Given the description of an element on the screen output the (x, y) to click on. 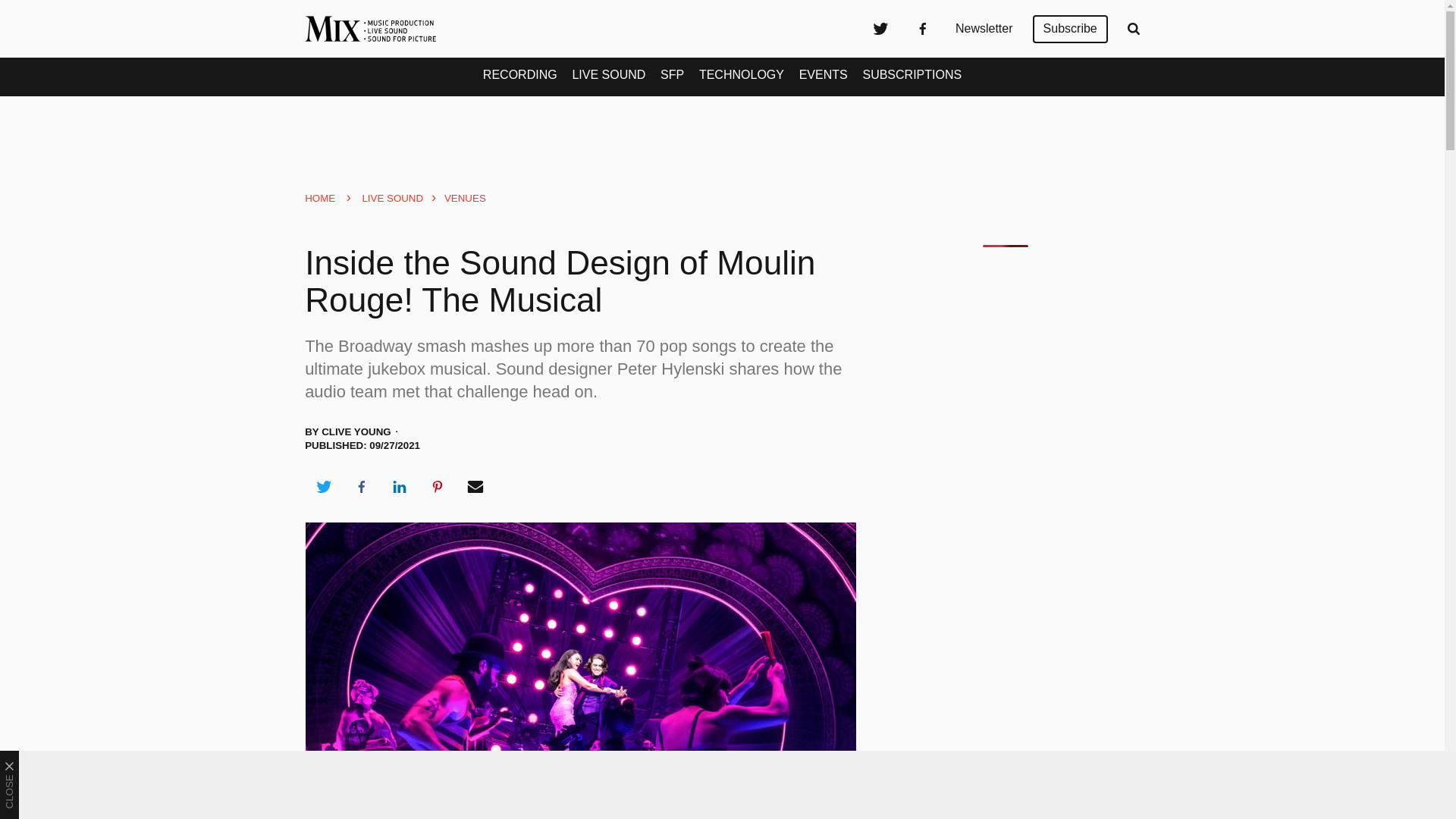
Share via Email (476, 486)
Share on Facebook (361, 486)
Share on Twitter (323, 486)
Share on Pinterest (438, 486)
Share on LinkedIn (399, 486)
